Given the description of an element on the screen output the (x, y) to click on. 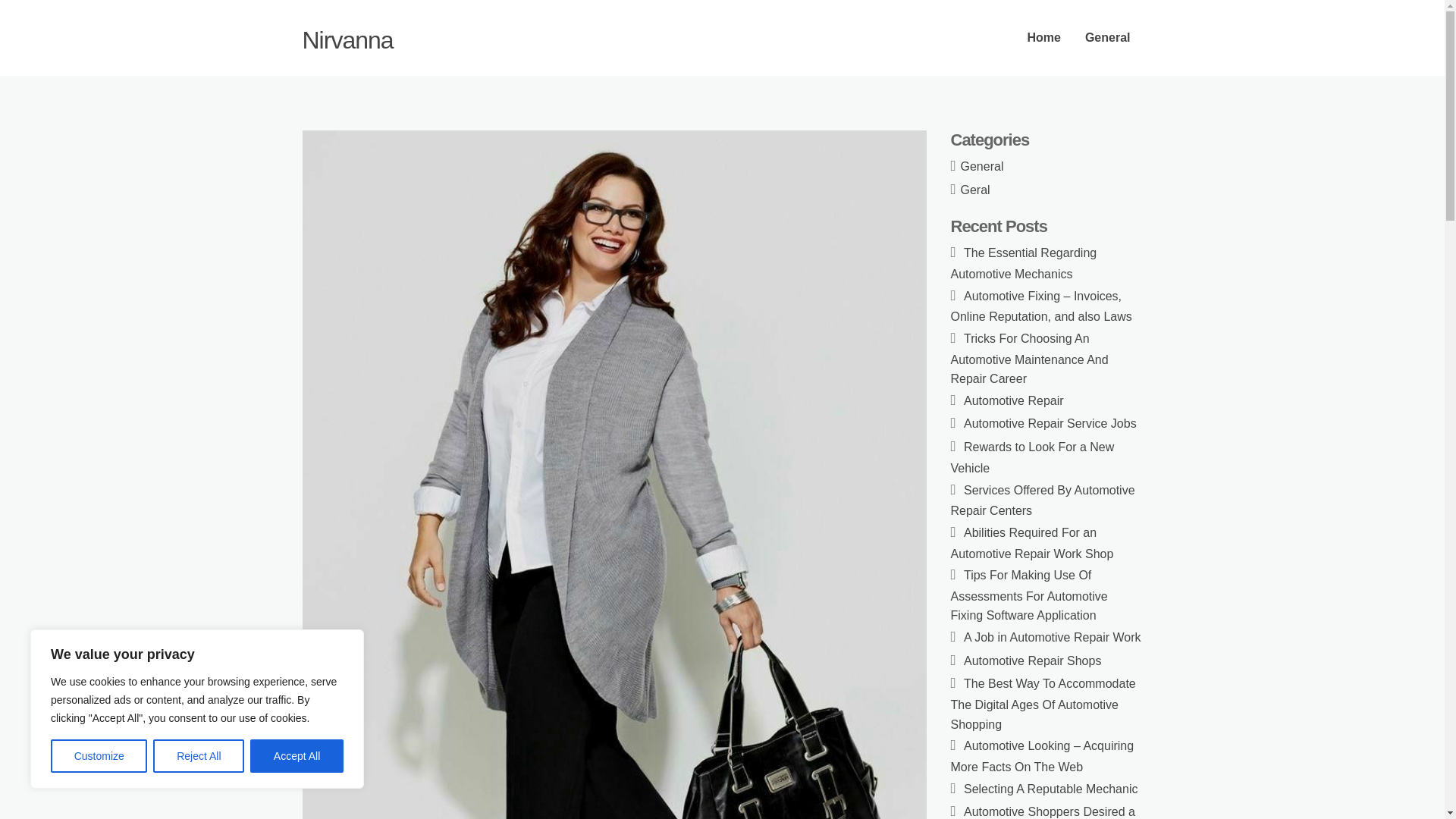
Reject All (198, 756)
Accept All (296, 756)
Geral (975, 189)
General (1107, 37)
Nirvanna (347, 39)
The Essential Regarding Automotive Mechanics (1023, 263)
Customize (98, 756)
Home (1042, 37)
General (982, 165)
